Given the description of an element on the screen output the (x, y) to click on. 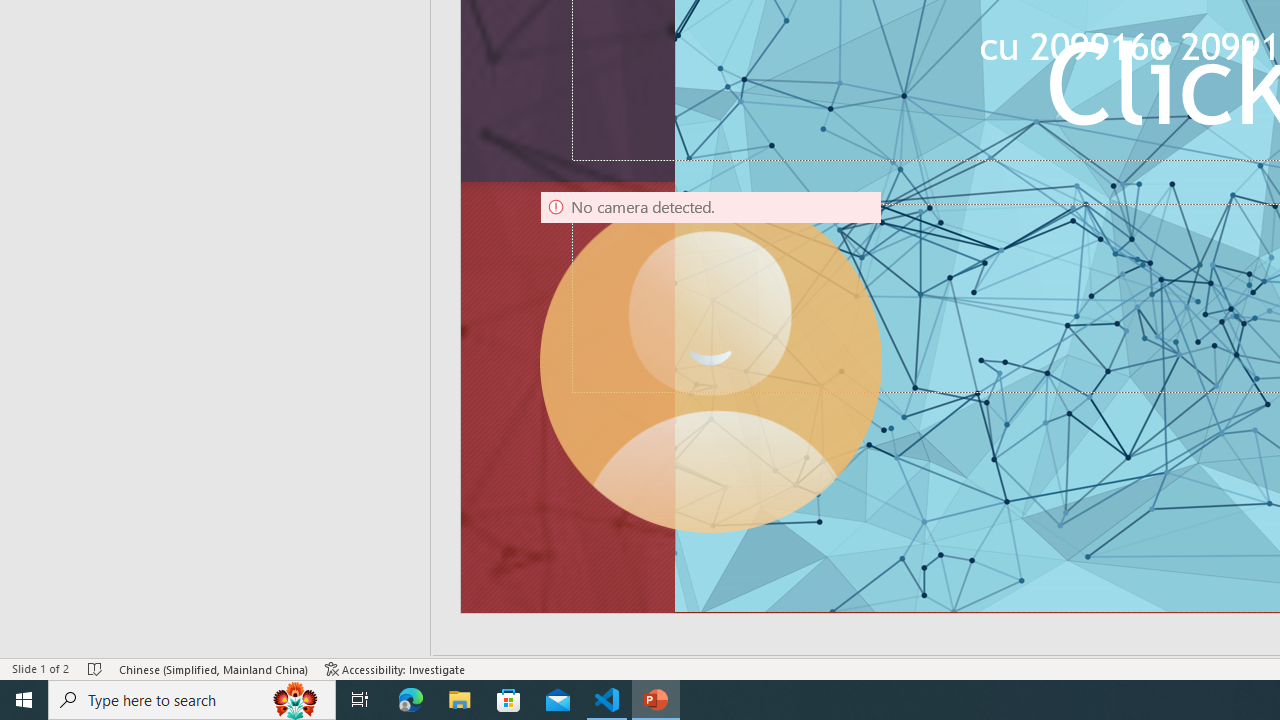
Camera 9, No camera detected. (710, 362)
